Given the description of an element on the screen output the (x, y) to click on. 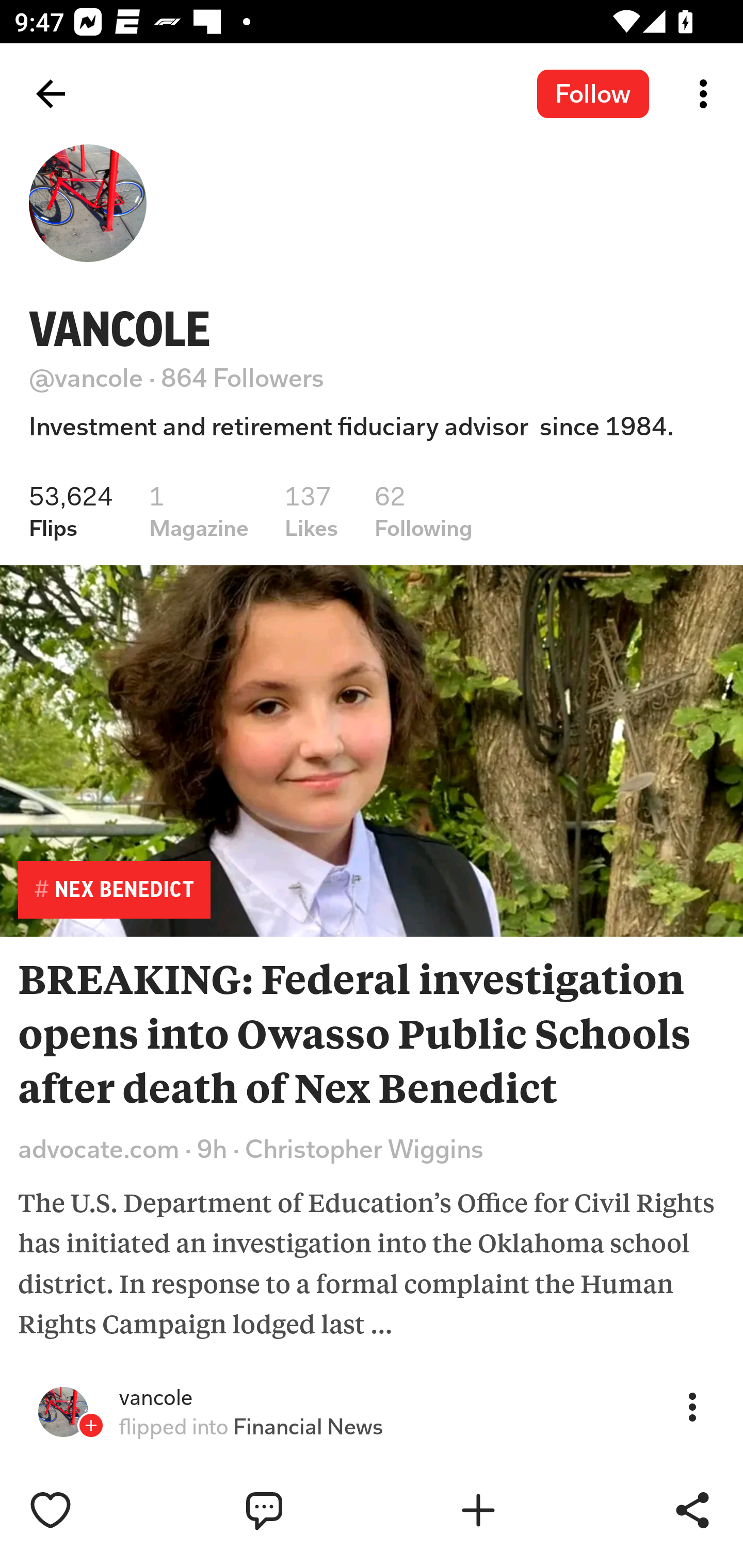
Back (50, 93)
More options (706, 93)
Follow (593, 92)
VANCOLE (119, 328)
@vancole (85, 377)
864 Followers (242, 377)
53,624 Flips (70, 510)
1 Magazine (198, 510)
137 Likes (311, 510)
62 Following (423, 510)
# NEX BENEDICT (113, 889)
More (692, 1406)
vancole (155, 1397)
flipped into Financial News (250, 1426)
Like (93, 1509)
Write a comment… (307, 1509)
Flip into Magazine (521, 1509)
Share (692, 1509)
